Given the description of an element on the screen output the (x, y) to click on. 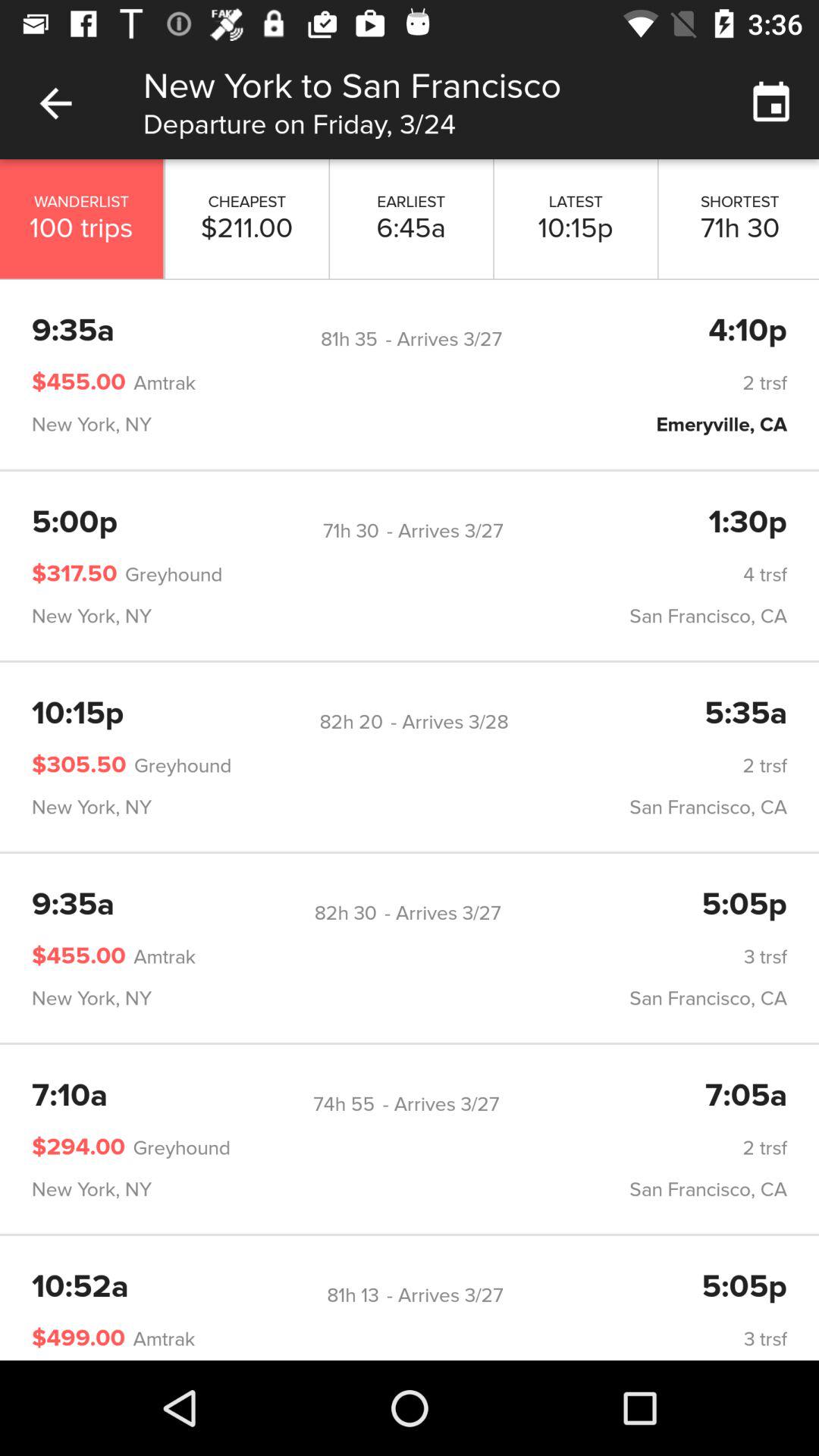
open icon to the right of - arrives 3/27 icon (747, 331)
